Given the description of an element on the screen output the (x, y) to click on. 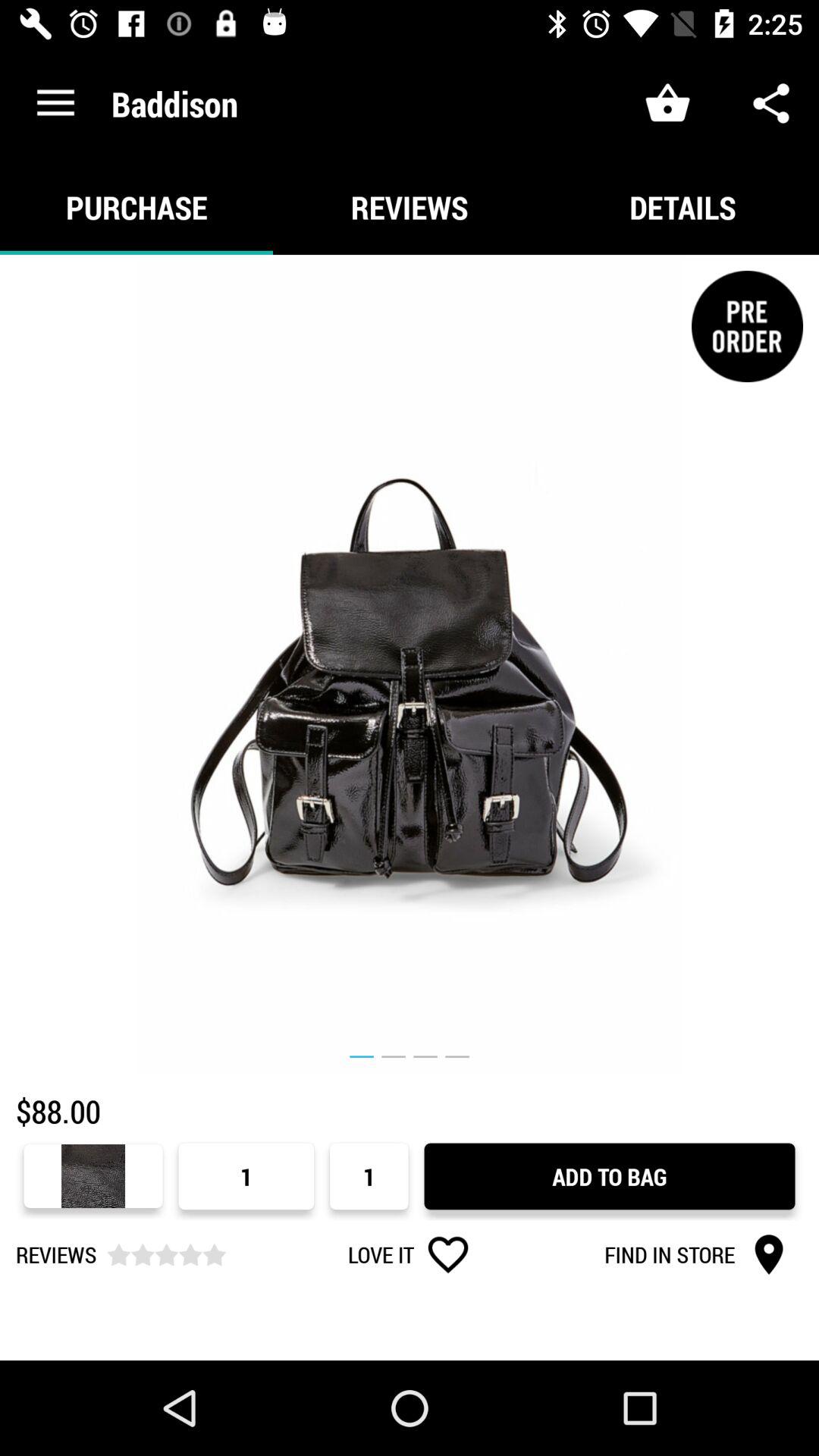
select item next to the baddison item (55, 103)
